Given the description of an element on the screen output the (x, y) to click on. 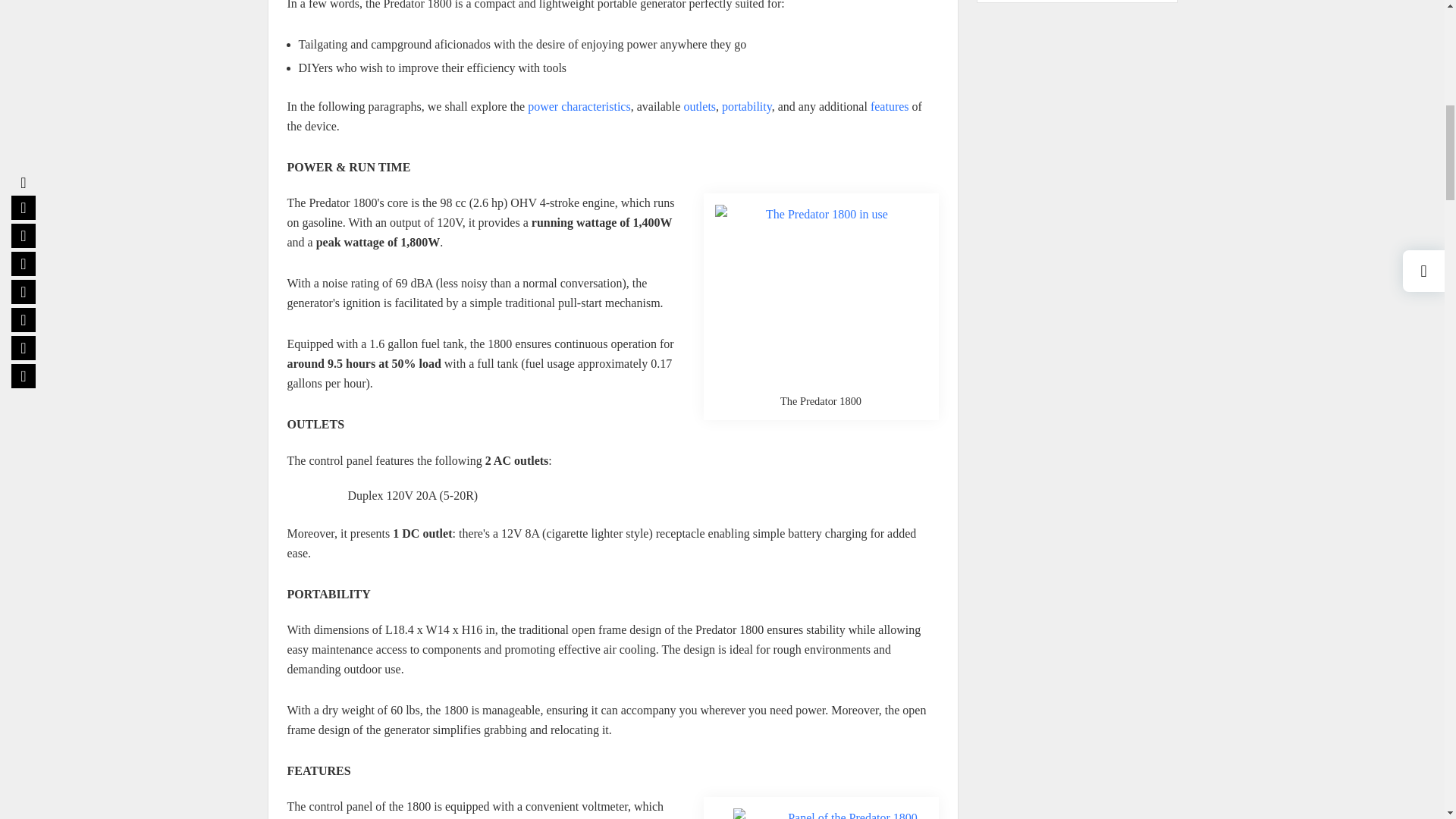
Click to scroll to the power spec description (578, 106)
Click to scroll to the feature description (889, 106)
Click to scroll to the outlet description (699, 106)
Click to scroll to the portability description (746, 106)
